Given the description of an element on the screen output the (x, y) to click on. 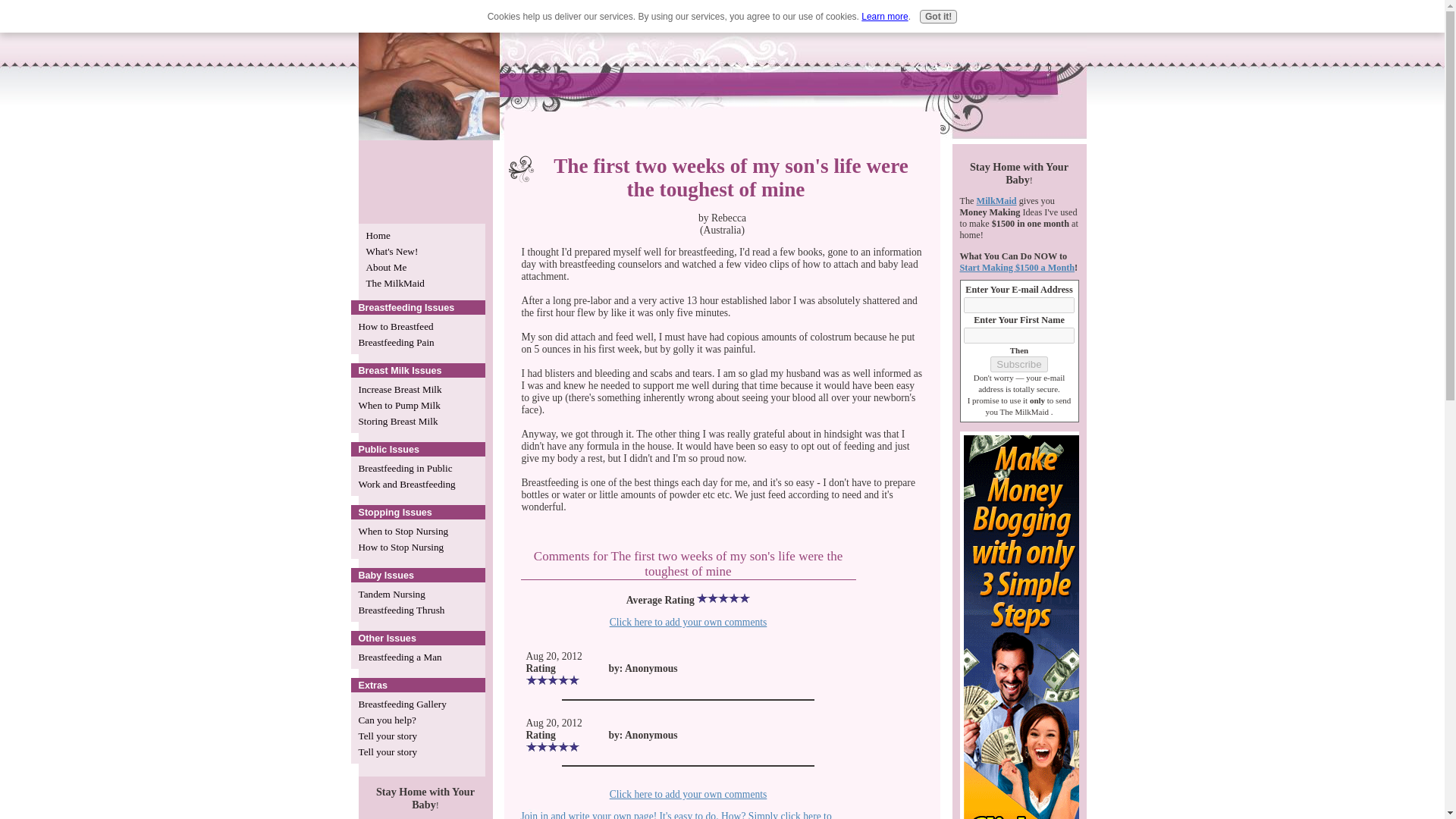
What's New! (421, 251)
When to Pump Milk (417, 405)
MilkMaid (996, 200)
Breastfeeding Pain (417, 342)
Tell your story (417, 751)
Home (421, 235)
Subscribe (1018, 364)
Tell your story (417, 735)
The MilkMaid (421, 283)
Breastfeeding a Man (417, 657)
Can you help? (417, 719)
make money blogging (1024, 625)
Tandem Nursing (417, 593)
Breastfeeding in Public (417, 467)
